Given the description of an element on the screen output the (x, y) to click on. 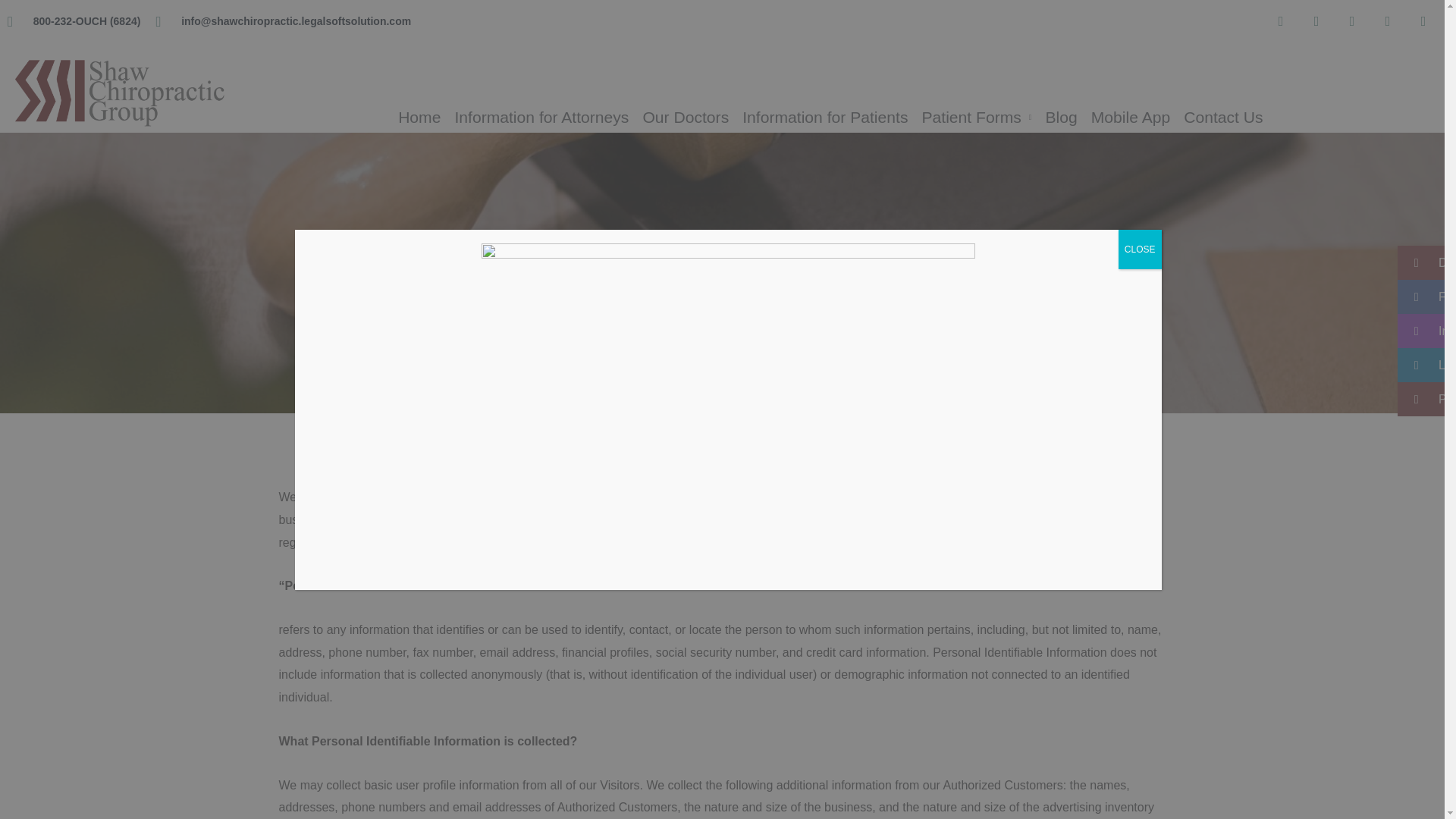
Information for Patients (824, 117)
Patient Forms (976, 117)
Information for Attorneys (540, 117)
Home (418, 117)
Blog (1061, 117)
Mobile App (1130, 117)
Our Doctors (684, 117)
Contact Us (1222, 117)
